Given the description of an element on the screen output the (x, y) to click on. 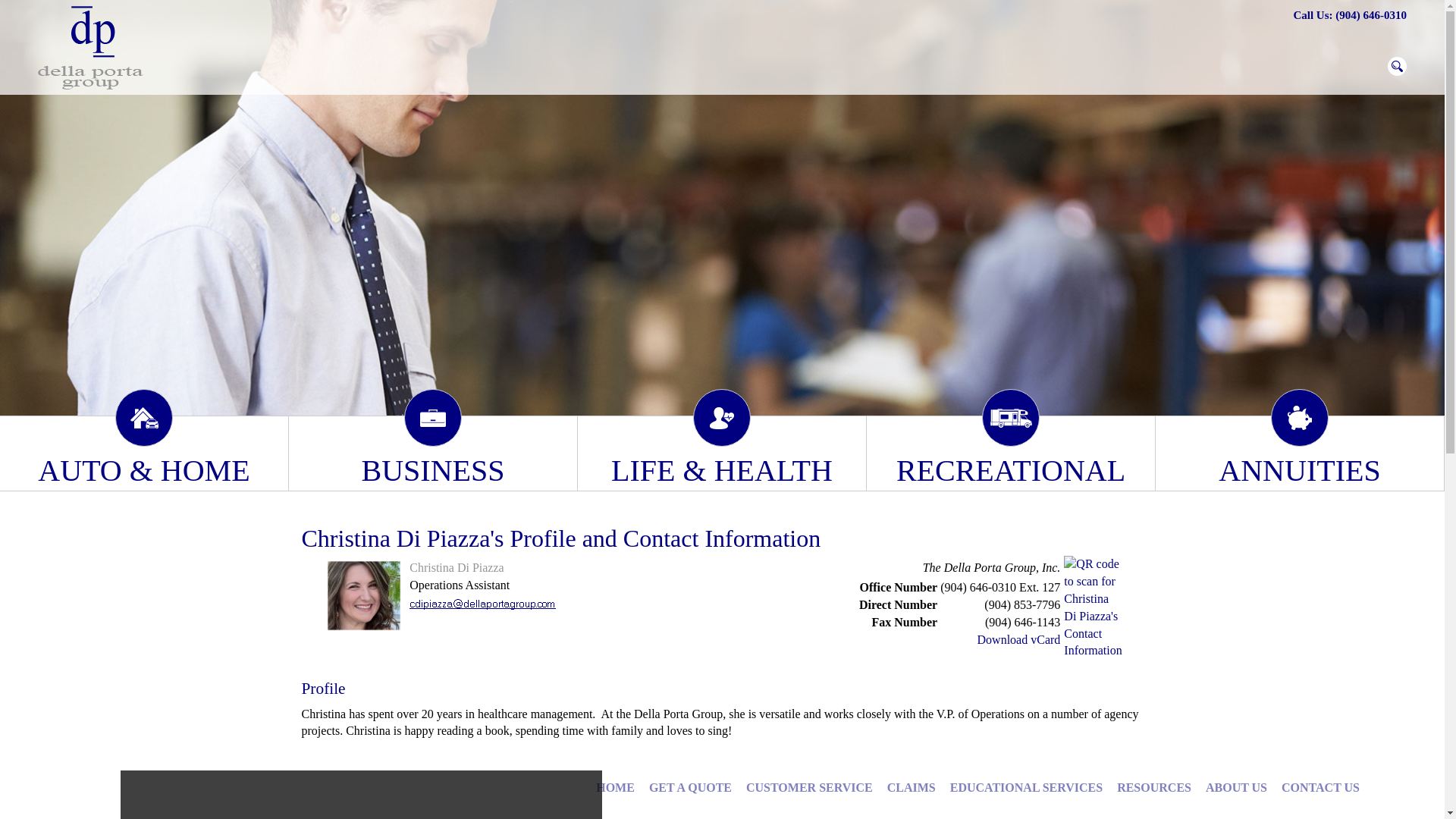
HOME (615, 787)
CUSTOMER SERVICE (809, 787)
GET A QUOTE (689, 787)
